Given the description of an element on the screen output the (x, y) to click on. 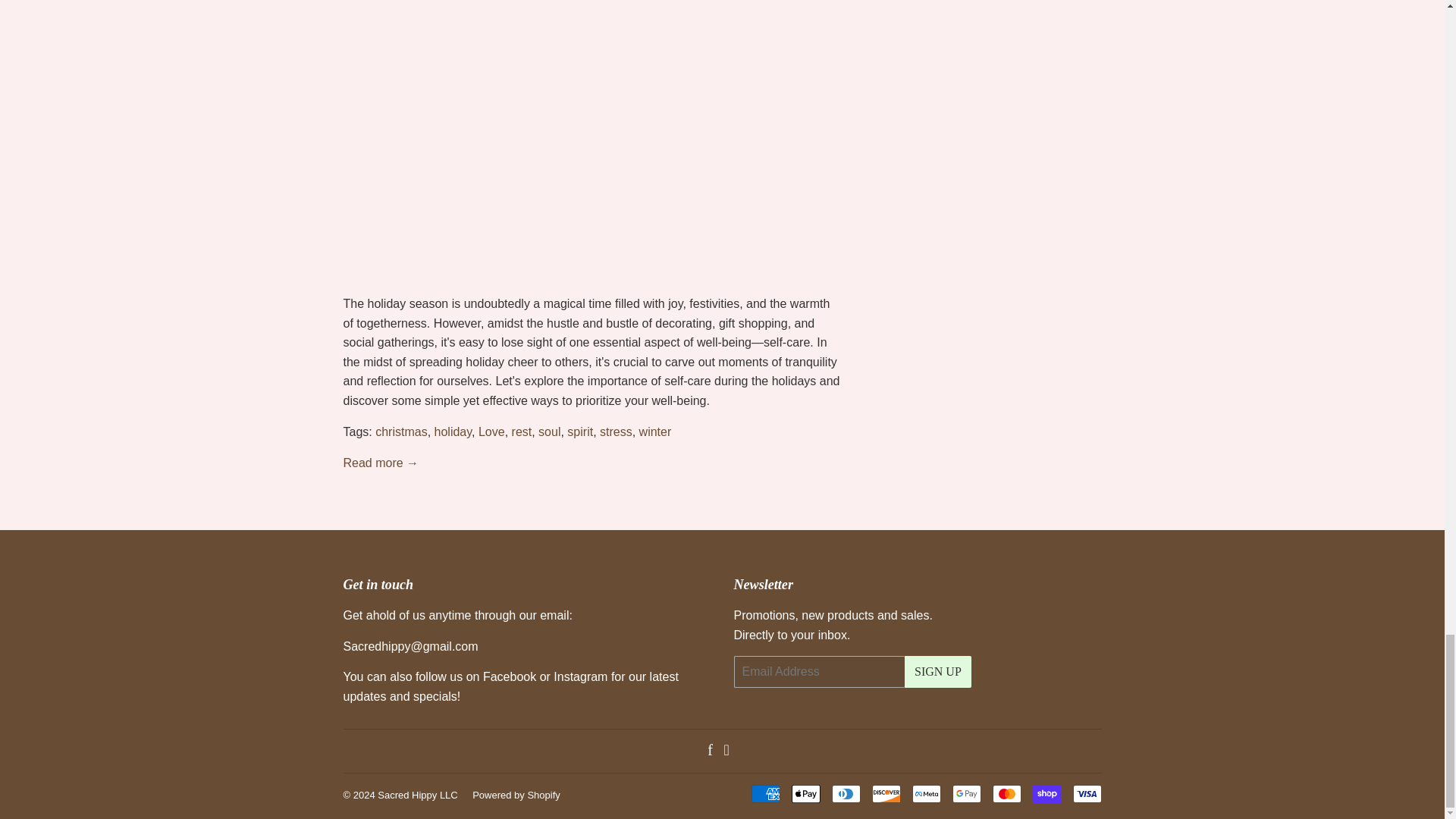
Shop Pay (1046, 793)
Google Pay (966, 793)
Diners Club (845, 793)
Mastercard (1005, 793)
Discover (886, 793)
Apple Pay (806, 793)
Meta Pay (925, 793)
American Express (764, 793)
Visa (1085, 793)
